Given the description of an element on the screen output the (x, y) to click on. 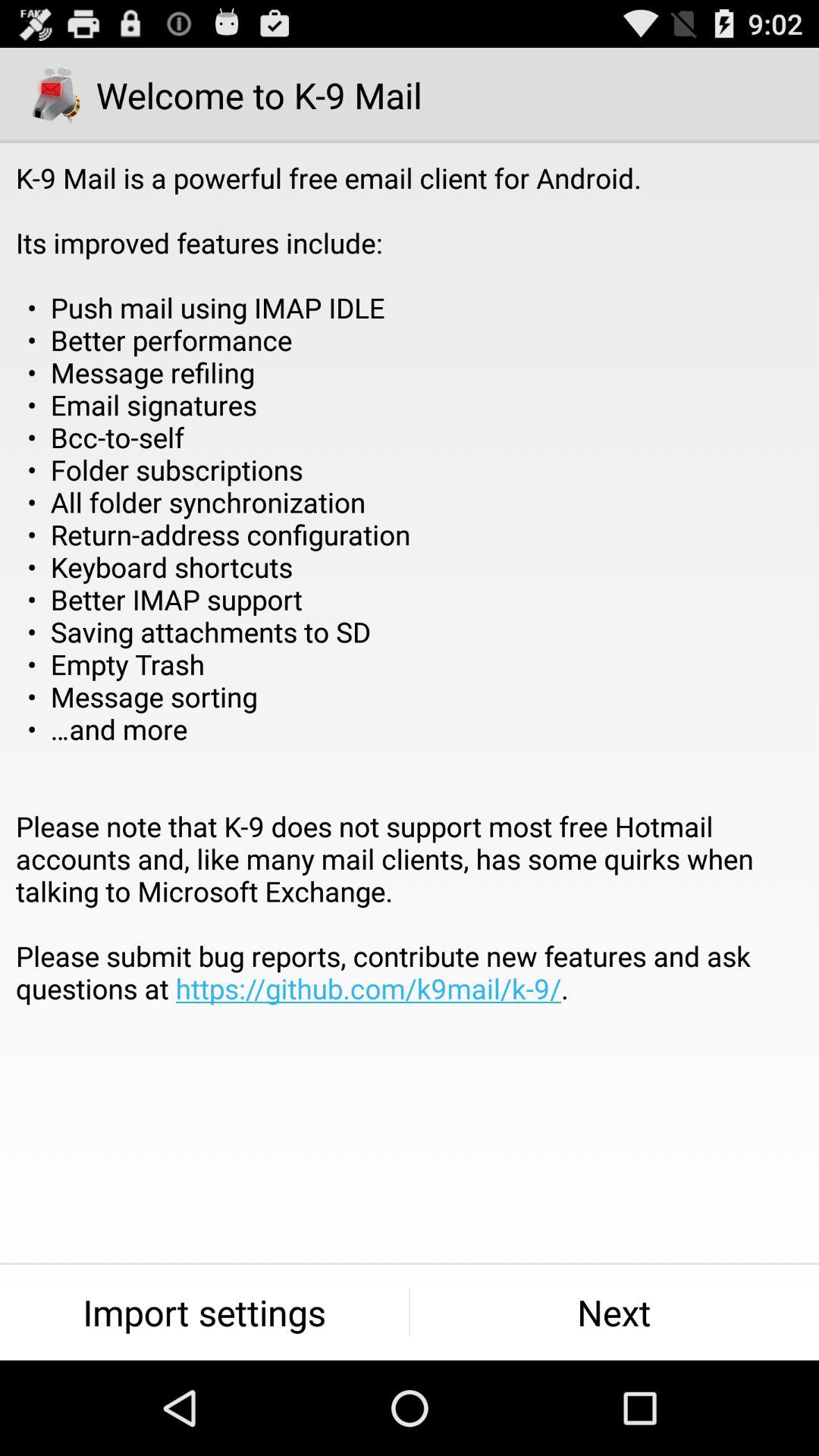
tap the button to the left of next item (204, 1312)
